Given the description of an element on the screen output the (x, y) to click on. 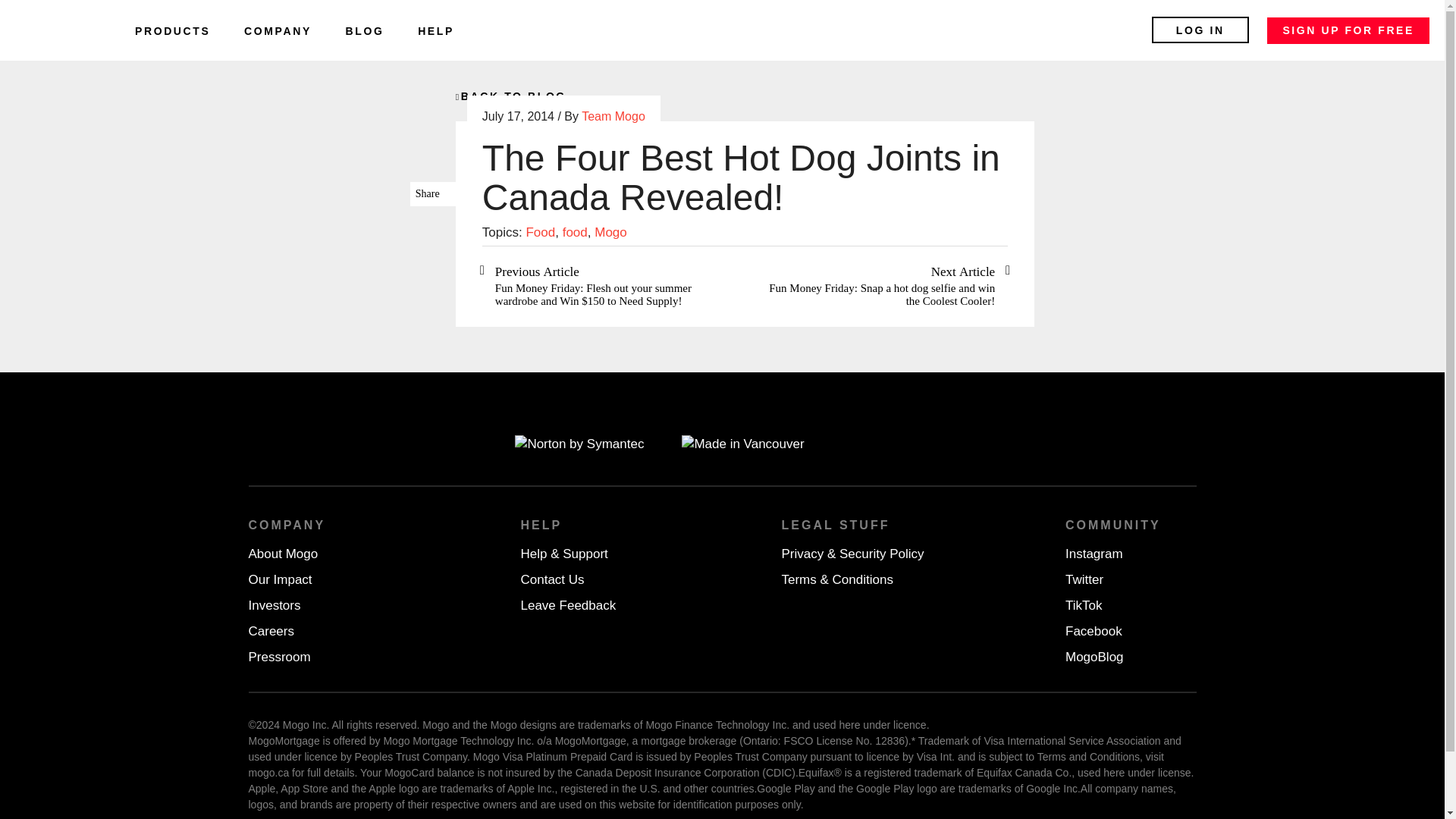
LOG IN (1200, 29)
SIGN UP FOR FREE (1347, 30)
BACK TO BLOG (510, 95)
COMPANY (277, 30)
PRODUCTS (172, 30)
